Given the description of an element on the screen output the (x, y) to click on. 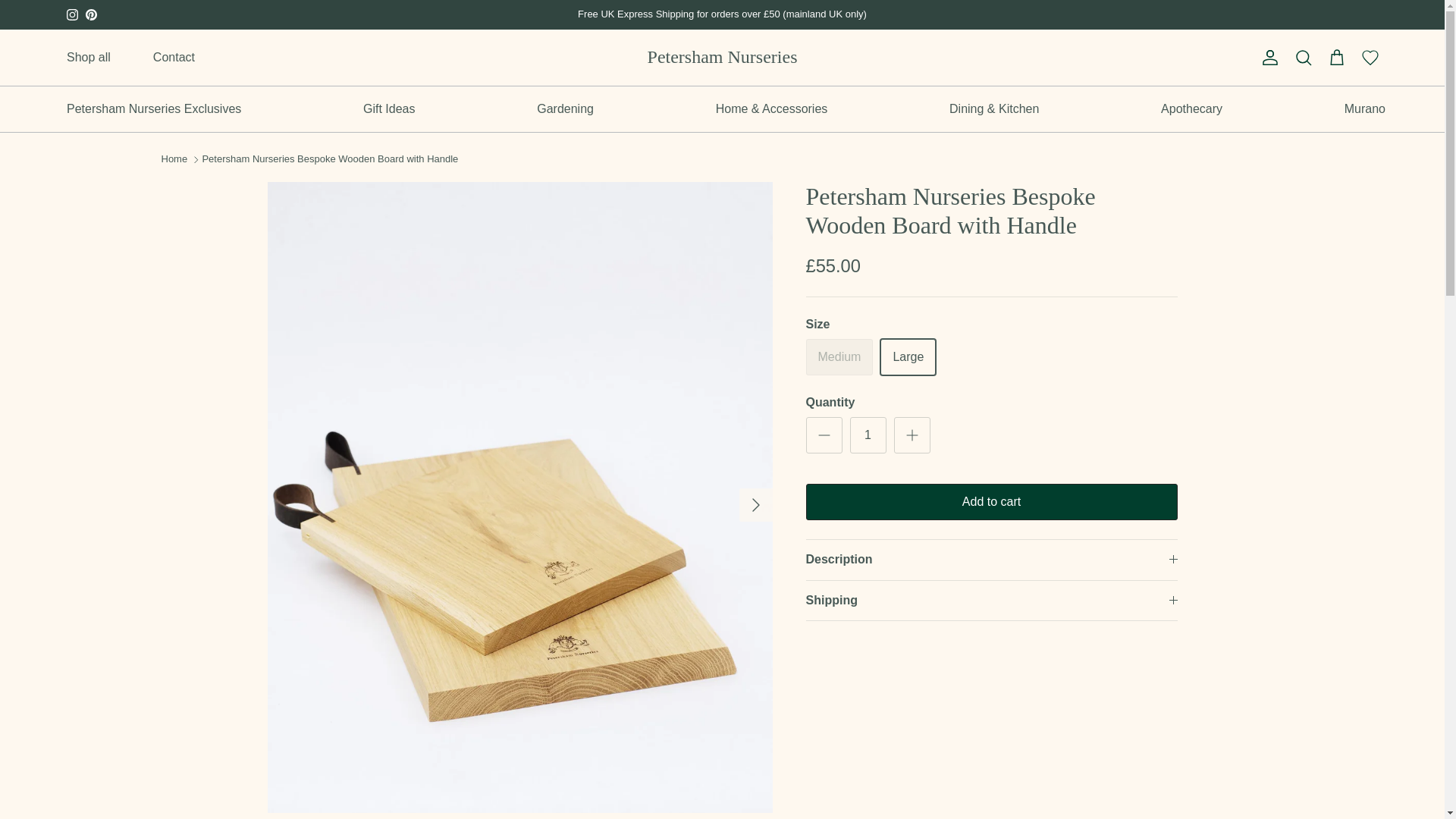
Instagram (72, 14)
1 (866, 434)
Petersham Nurseries (722, 57)
Pinterest (91, 14)
Shop all (87, 57)
Gardening (564, 108)
Petersham Nurseries (722, 57)
Gift Ideas (388, 108)
Petersham Nurseries on Instagram (72, 14)
Contact (173, 57)
